Given the description of an element on the screen output the (x, y) to click on. 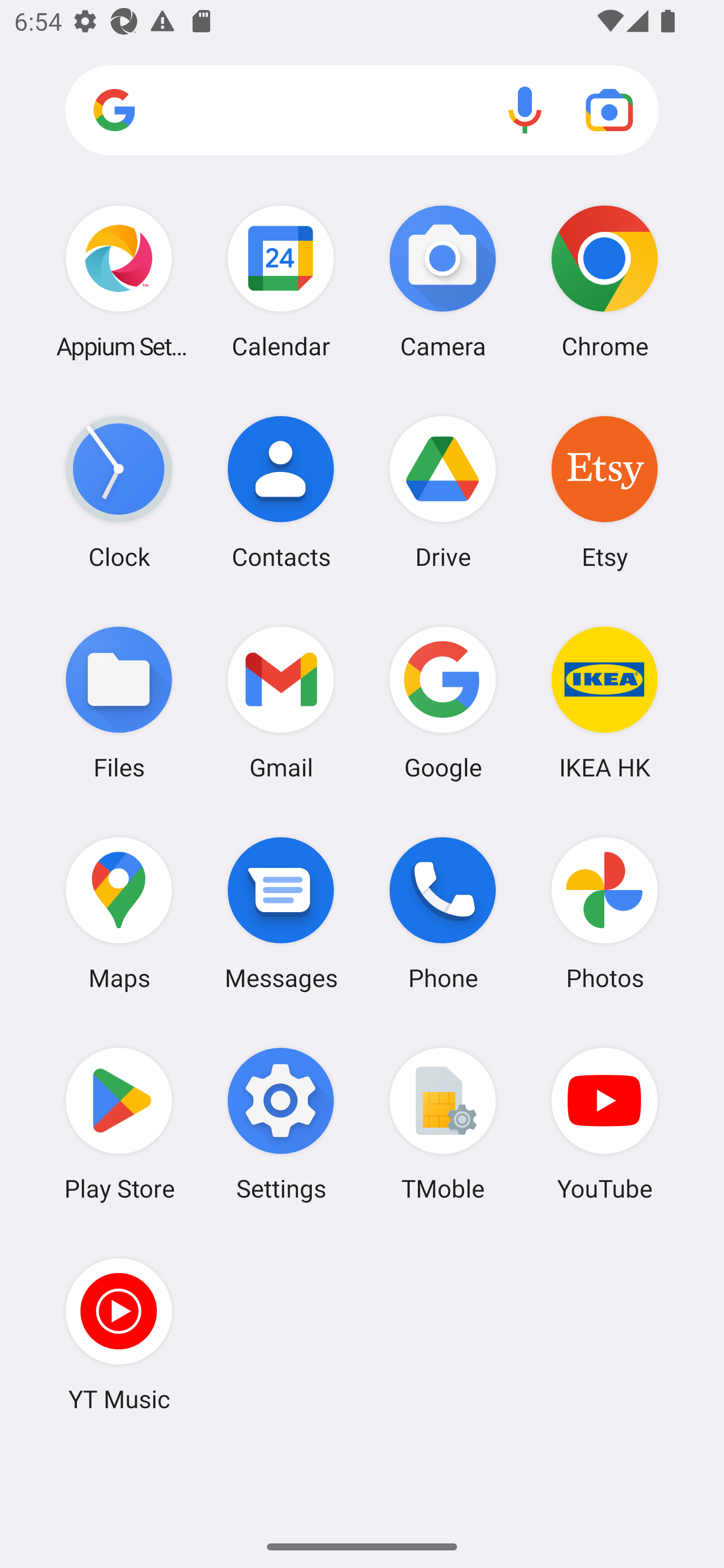
Search apps, web and more (361, 110)
Voice search (524, 109)
Google Lens (608, 109)
Appium Settings (118, 281)
Calendar (280, 281)
Camera (443, 281)
Chrome (604, 281)
Clock (118, 492)
Contacts (280, 492)
Drive (443, 492)
Etsy (604, 492)
Files (118, 702)
Gmail (280, 702)
Google (443, 702)
IKEA HK (604, 702)
Maps (118, 913)
Messages (280, 913)
Phone (443, 913)
Photos (604, 913)
Play Store (118, 1124)
Settings (280, 1124)
TMoble (443, 1124)
YouTube (604, 1124)
YT Music (118, 1334)
